Given the description of an element on the screen output the (x, y) to click on. 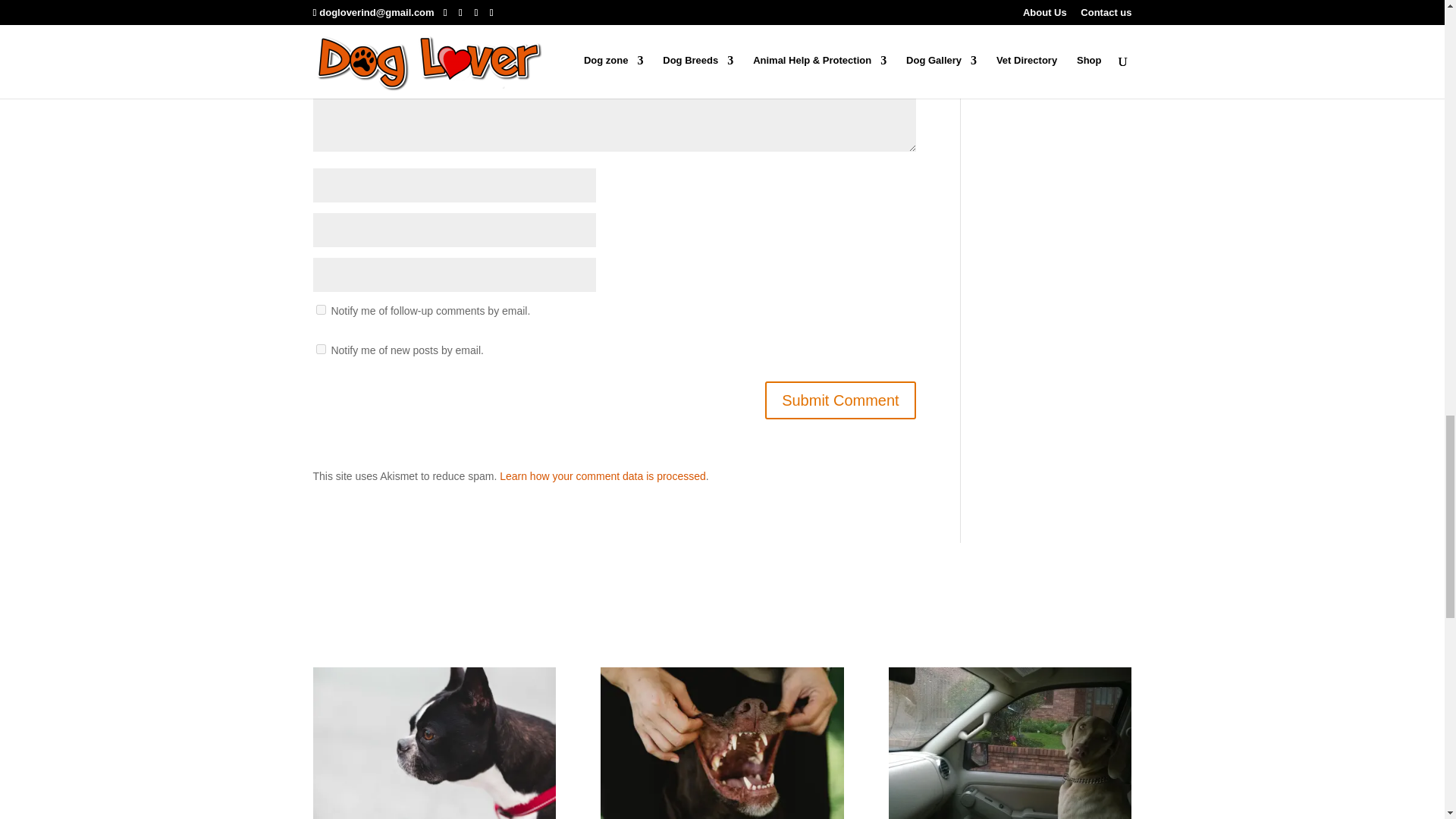
subscribe (319, 309)
subscribe (319, 348)
Submit Comment (840, 400)
